Given the description of an element on the screen output the (x, y) to click on. 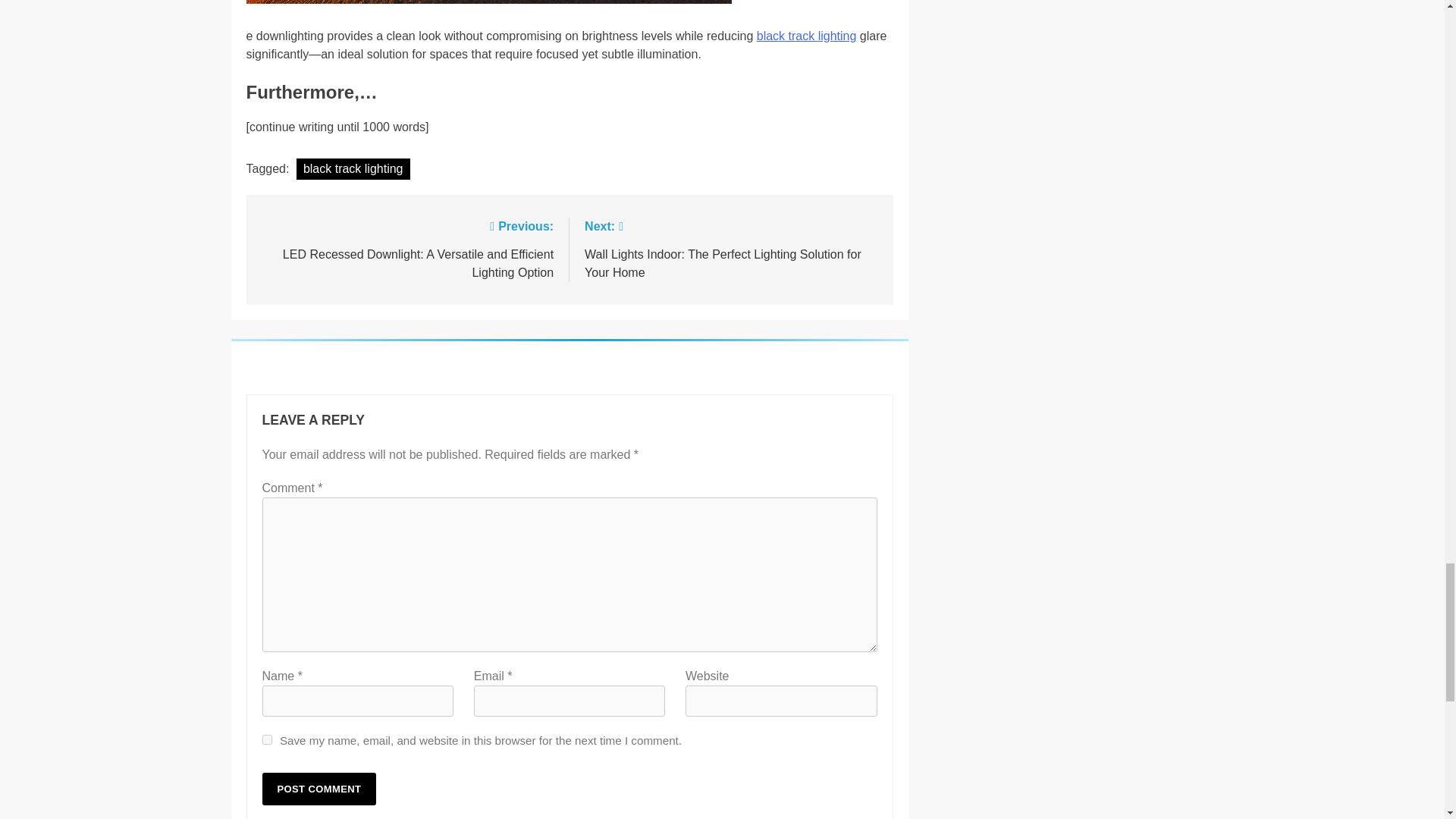
black track lighting (353, 168)
black track lighting (807, 35)
yes (267, 739)
Post Comment (319, 789)
Post Comment (319, 789)
